Given the description of an element on the screen output the (x, y) to click on. 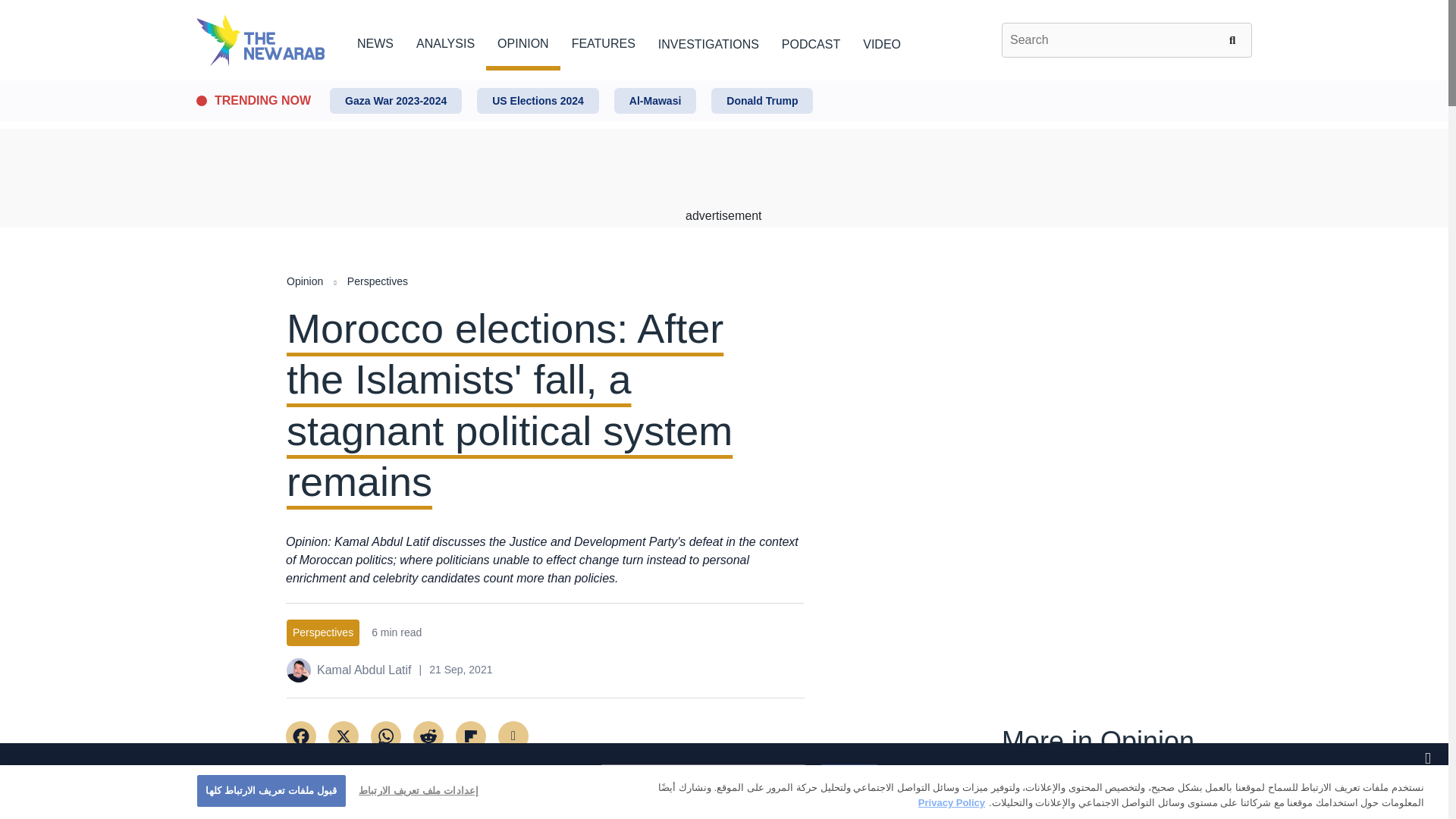
ANALYSIS (445, 41)
NEWS (375, 41)
Skip to main content (724, 81)
OPINION (523, 41)
Search (1234, 39)
